Given the description of an element on the screen output the (x, y) to click on. 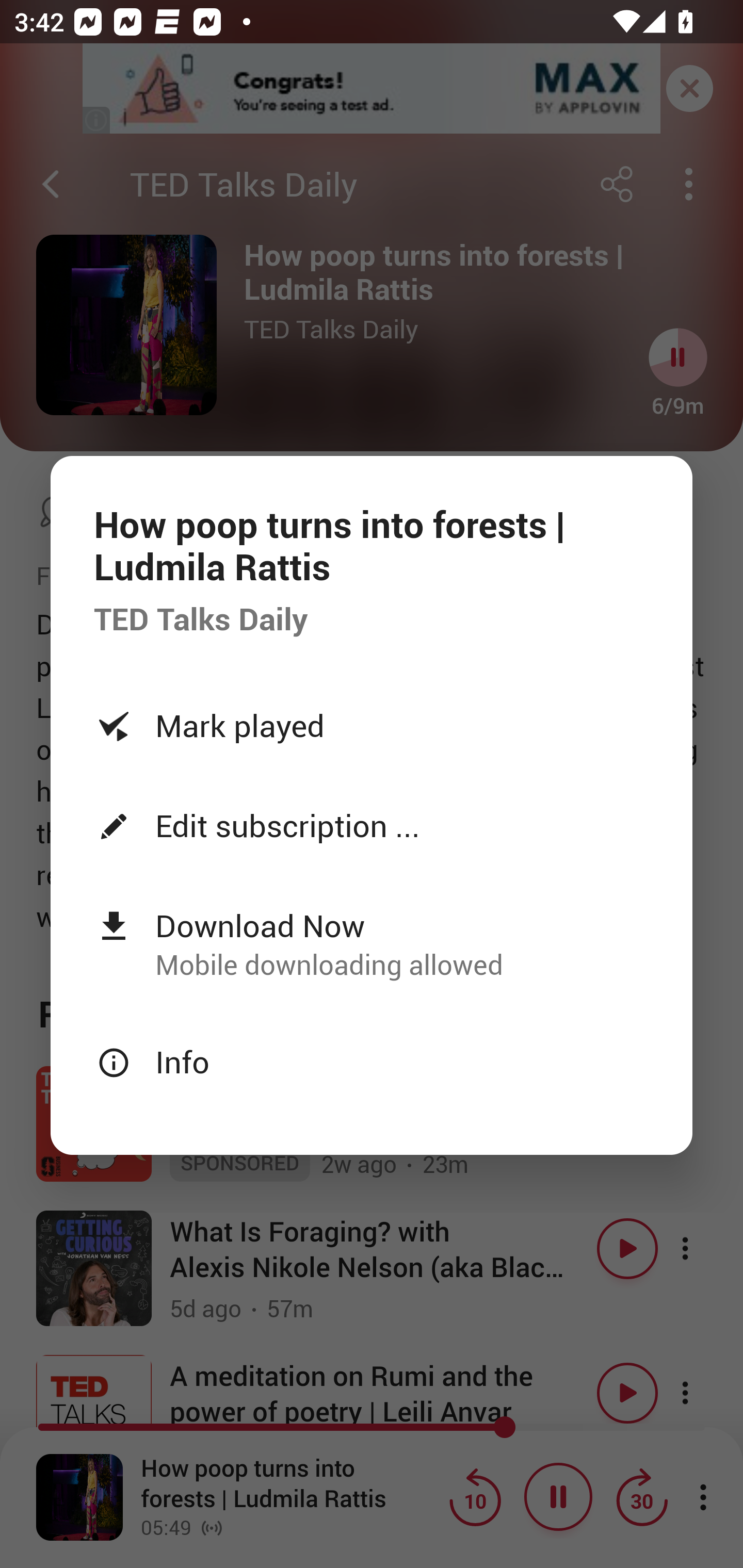
Mark played (371, 724)
Edit subscription ... (371, 824)
Download Now Mobile downloading allowed (371, 942)
Info (371, 1061)
